Given the description of an element on the screen output the (x, y) to click on. 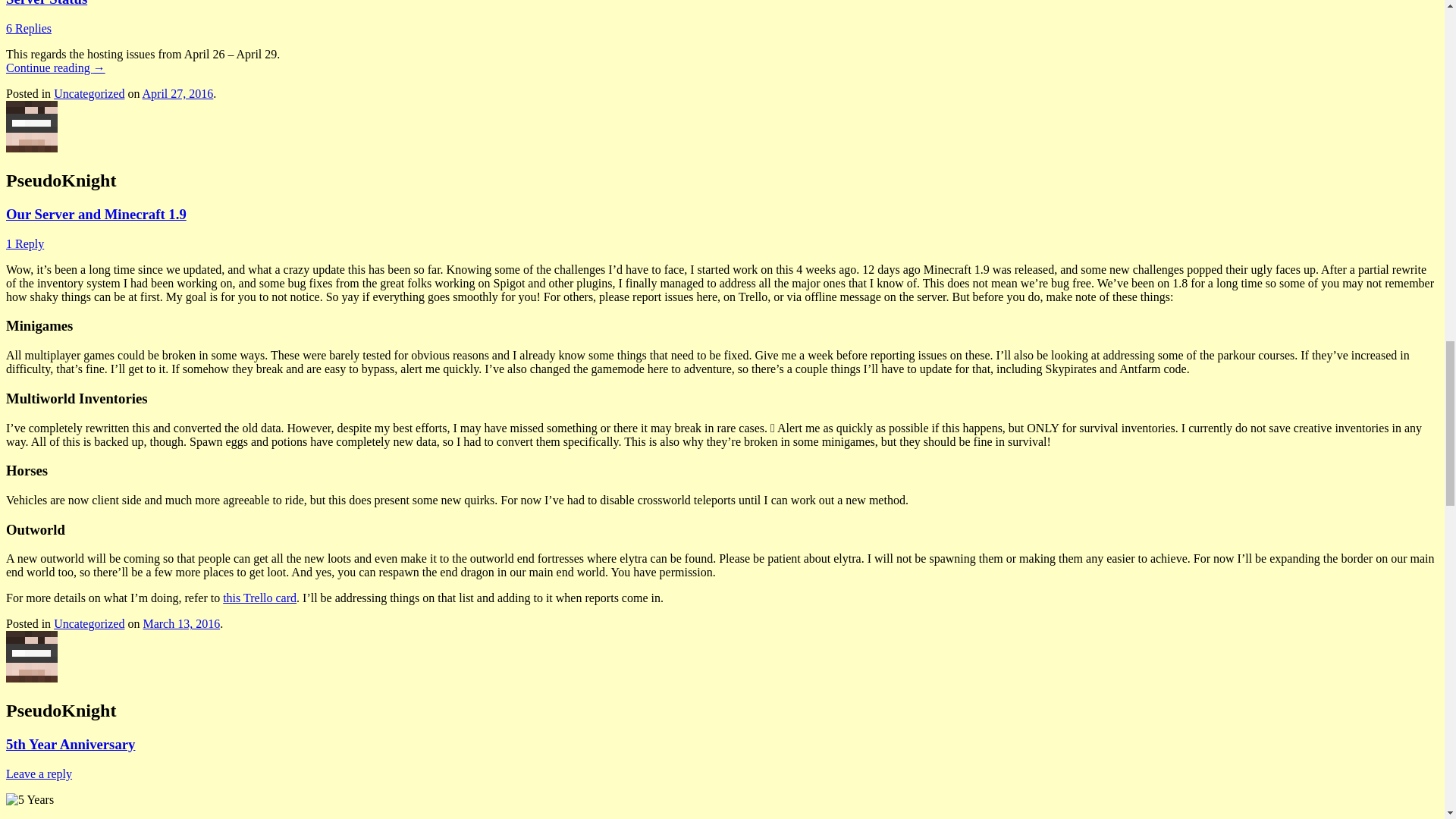
Our Server and Minecraft 1.9 (95, 213)
April 27, 2016 (178, 92)
6:21 am (178, 92)
1 Reply (24, 243)
Uncategorized (88, 92)
Permalink to 5th Year Anniversary (70, 744)
Permalink to Our Server and Minecraft 1.9 (95, 213)
Server Status (46, 3)
6 Replies (27, 28)
Permalink to Server Status (46, 3)
4:10 am (180, 623)
